Given the description of an element on the screen output the (x, y) to click on. 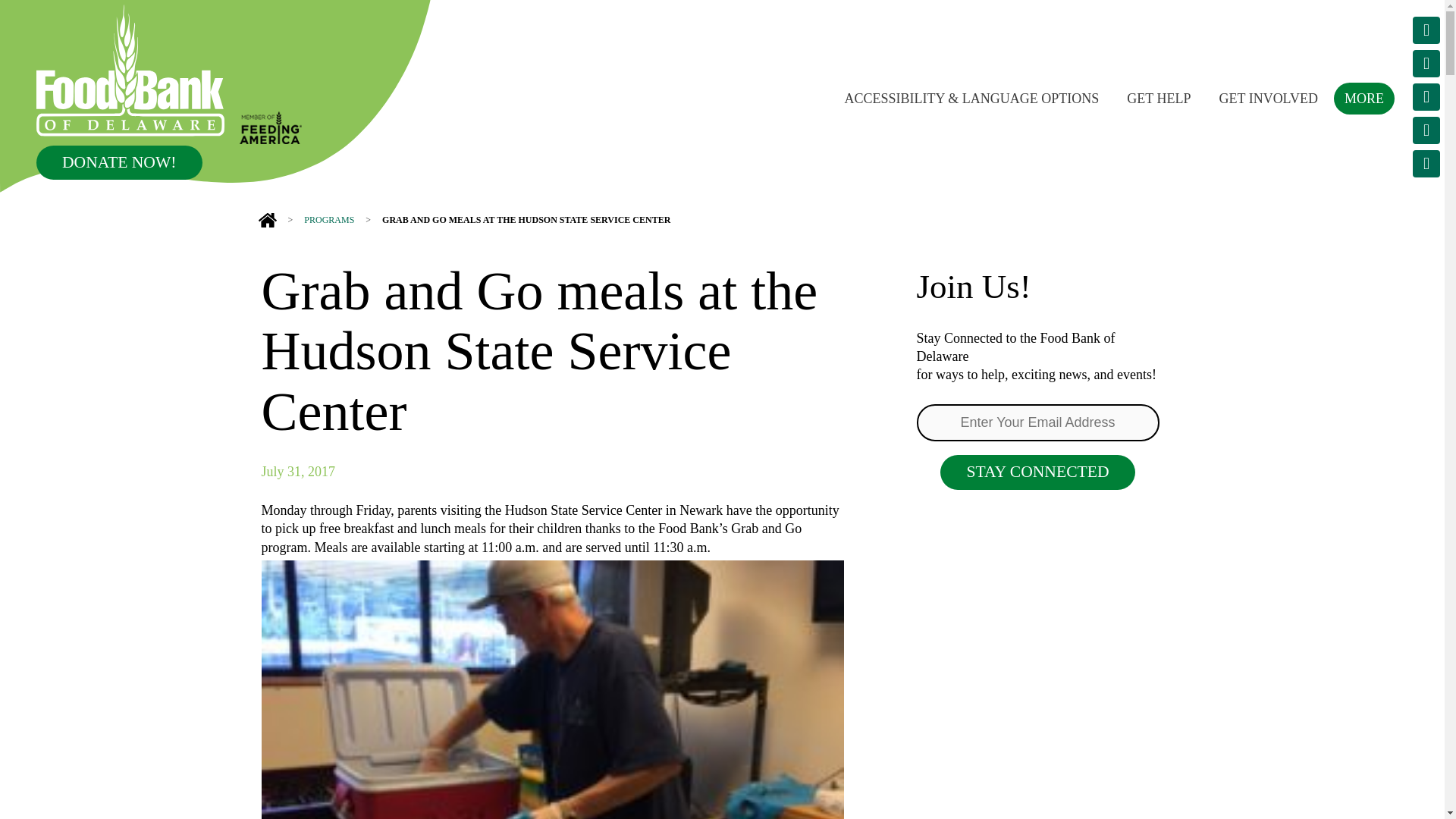
Go To Instagram (1425, 62)
Grab and Go meals at the Hudson State Service Center (525, 219)
Food Bank of Delaware : Home (130, 70)
STAY CONNECTED (1037, 472)
Go To Food Bank Blog (1425, 163)
Go To Youtube (1425, 130)
GET HELP (1158, 96)
Go To Facebook (1425, 96)
Go To Twitter (1425, 30)
GET INVOLVED (1268, 96)
